Given the description of an element on the screen output the (x, y) to click on. 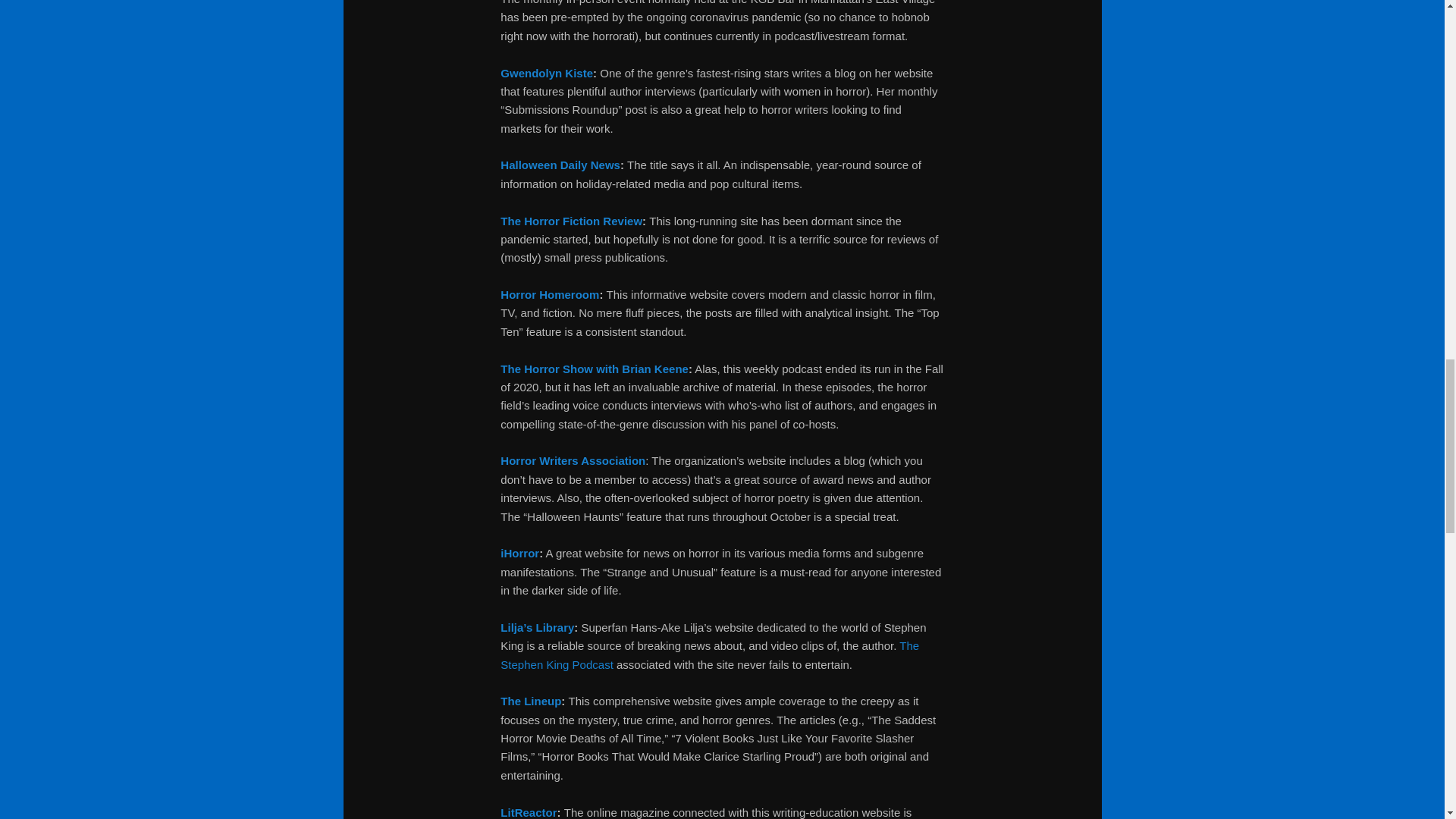
The Horror Fiction Review (571, 220)
iHorror (519, 553)
The Horror Show with Brian Keene (594, 368)
Horror Homeroom (549, 294)
Halloween Daily News (560, 164)
The Stephen King Podcast (709, 654)
The Lineup (530, 700)
Horror Writers Association (572, 460)
LitReactor (528, 812)
Gwendolyn Kiste (546, 72)
